Given the description of an element on the screen output the (x, y) to click on. 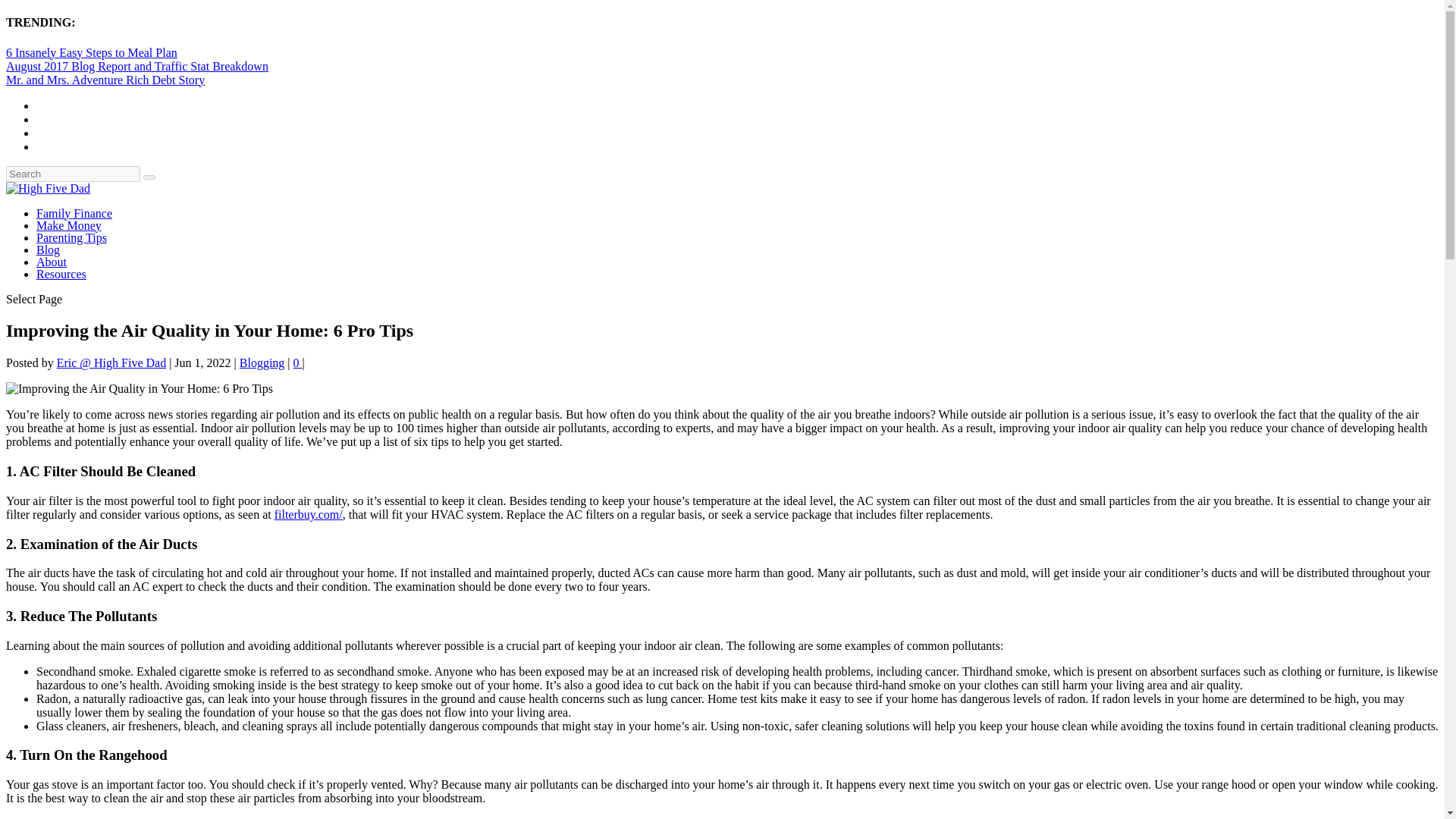
Resources (60, 273)
August 2017 Blog Report and Traffic Stat Breakdown (136, 65)
Blog (47, 249)
Mr. and Mrs. Adventure Rich Debt Story (105, 79)
Blogging (262, 362)
Parenting Tips (71, 237)
6 Insanely Easy Steps to Meal Plan (91, 51)
Family Finance (74, 213)
Make Money (68, 225)
0 (298, 362)
Search for: (72, 173)
About (51, 261)
